Given the description of an element on the screen output the (x, y) to click on. 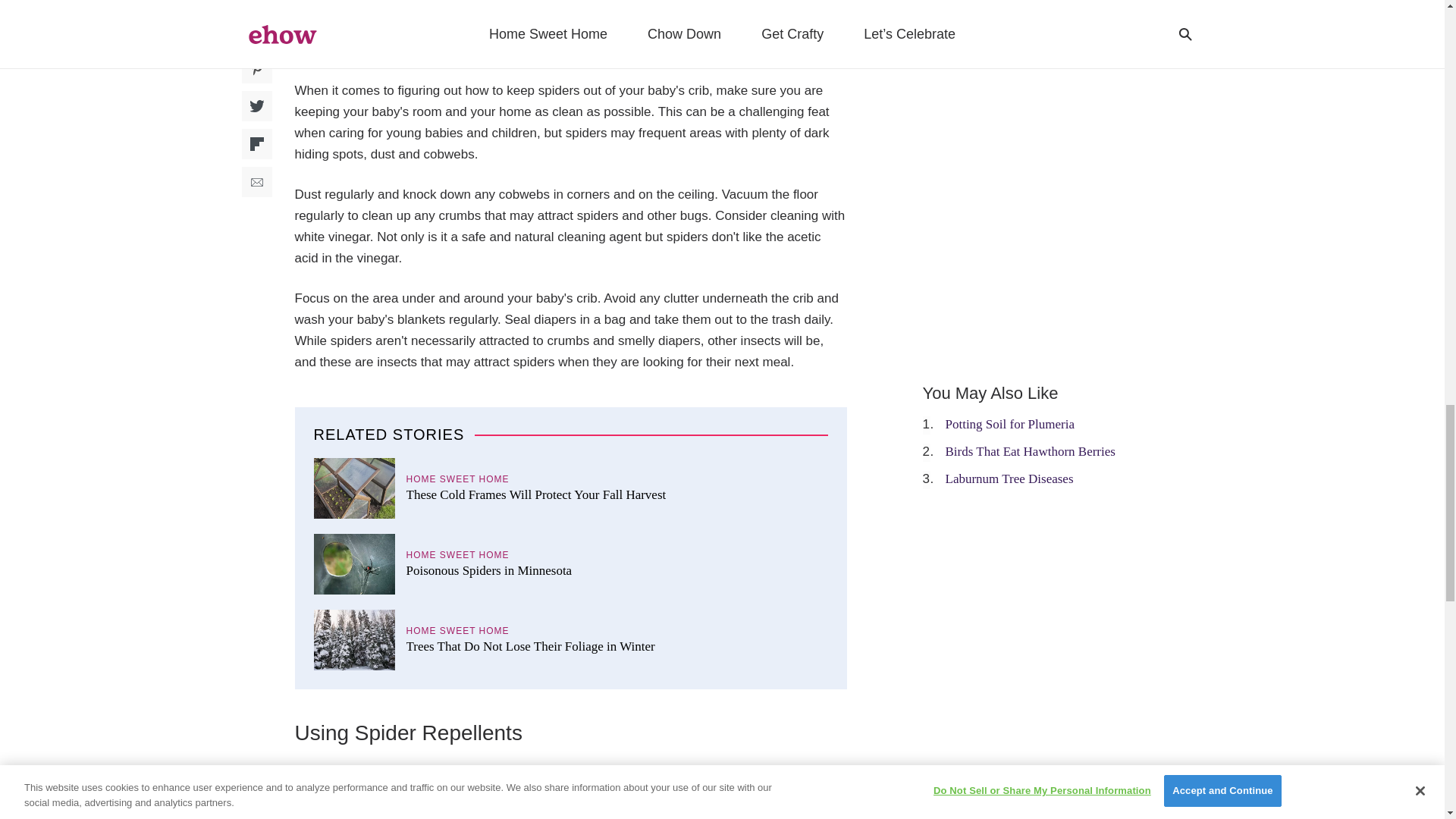
Potting Soil for Plumeria (1009, 423)
Birds That Eat Hawthorn Berries (1029, 451)
Laburnum Tree Diseases (1008, 478)
